Given the description of an element on the screen output the (x, y) to click on. 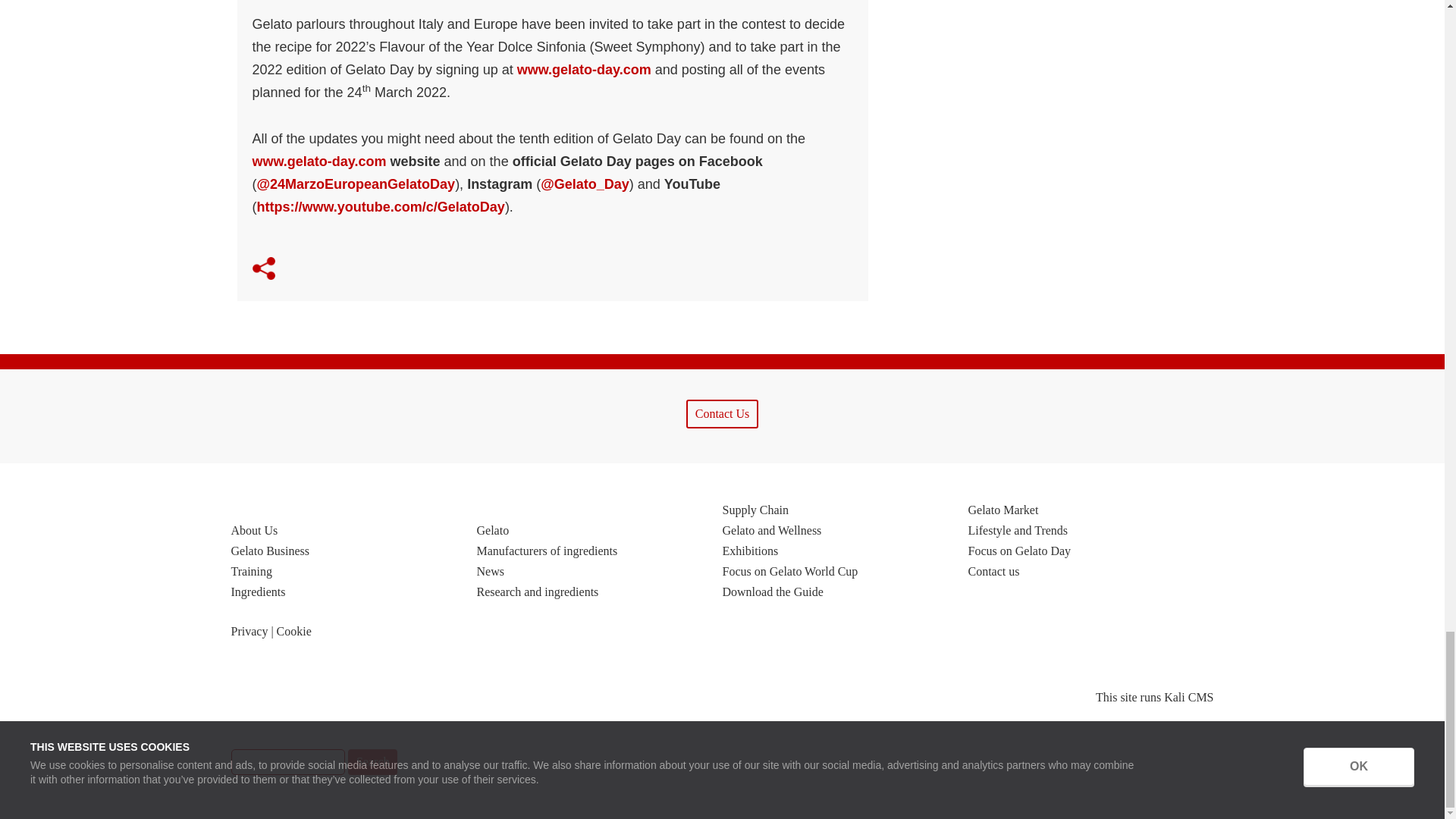
www.gelato-day.com (318, 160)
www.gelato-day.com (583, 69)
Search (286, 761)
